Given the description of an element on the screen output the (x, y) to click on. 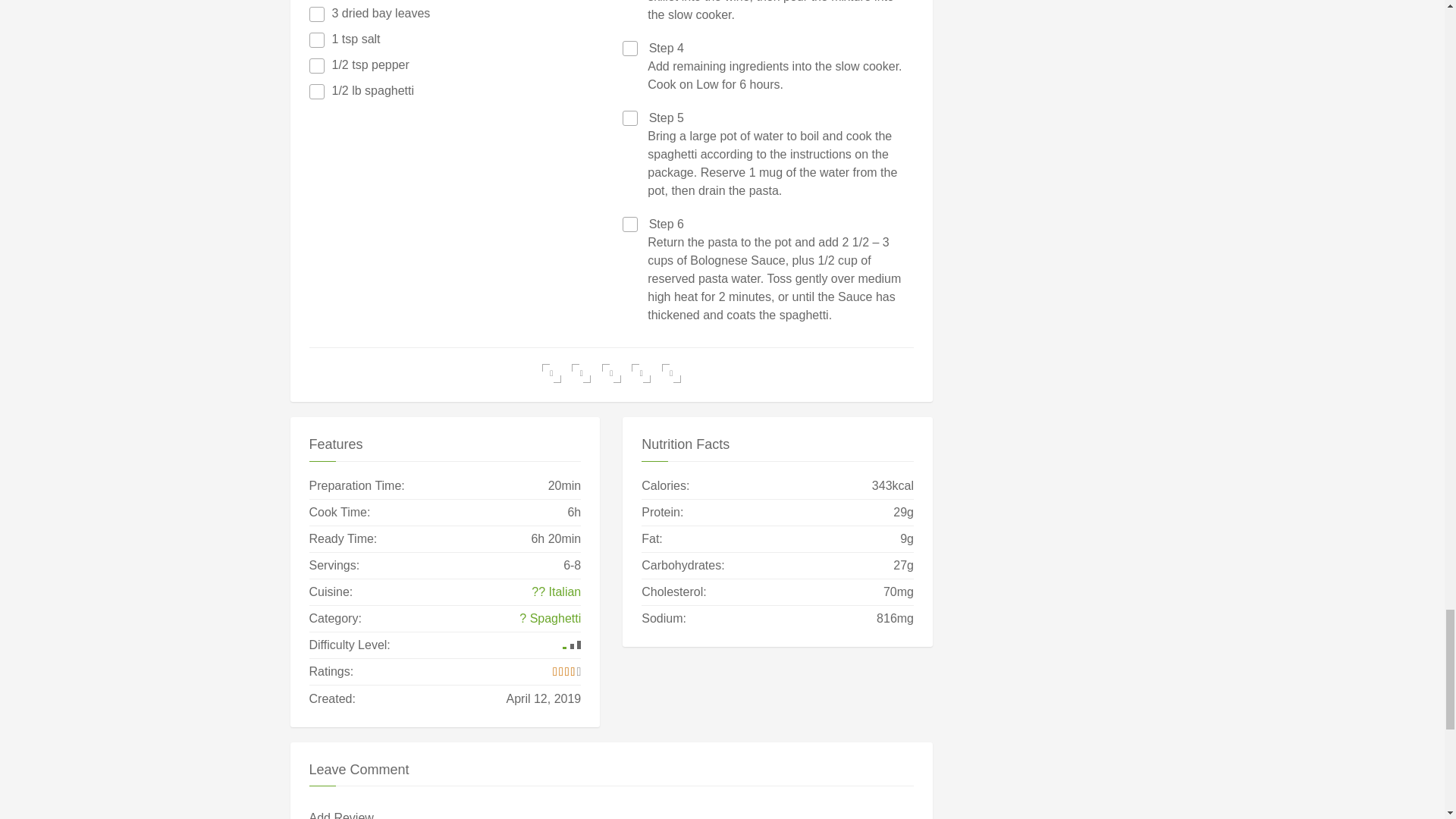
?? Italian (555, 592)
Share on LinkedIn (640, 373)
Share on Facebook (550, 373)
? Spaghetti (549, 618)
Share on Tumblr (671, 373)
Share on Twitter (581, 373)
